Given the description of an element on the screen output the (x, y) to click on. 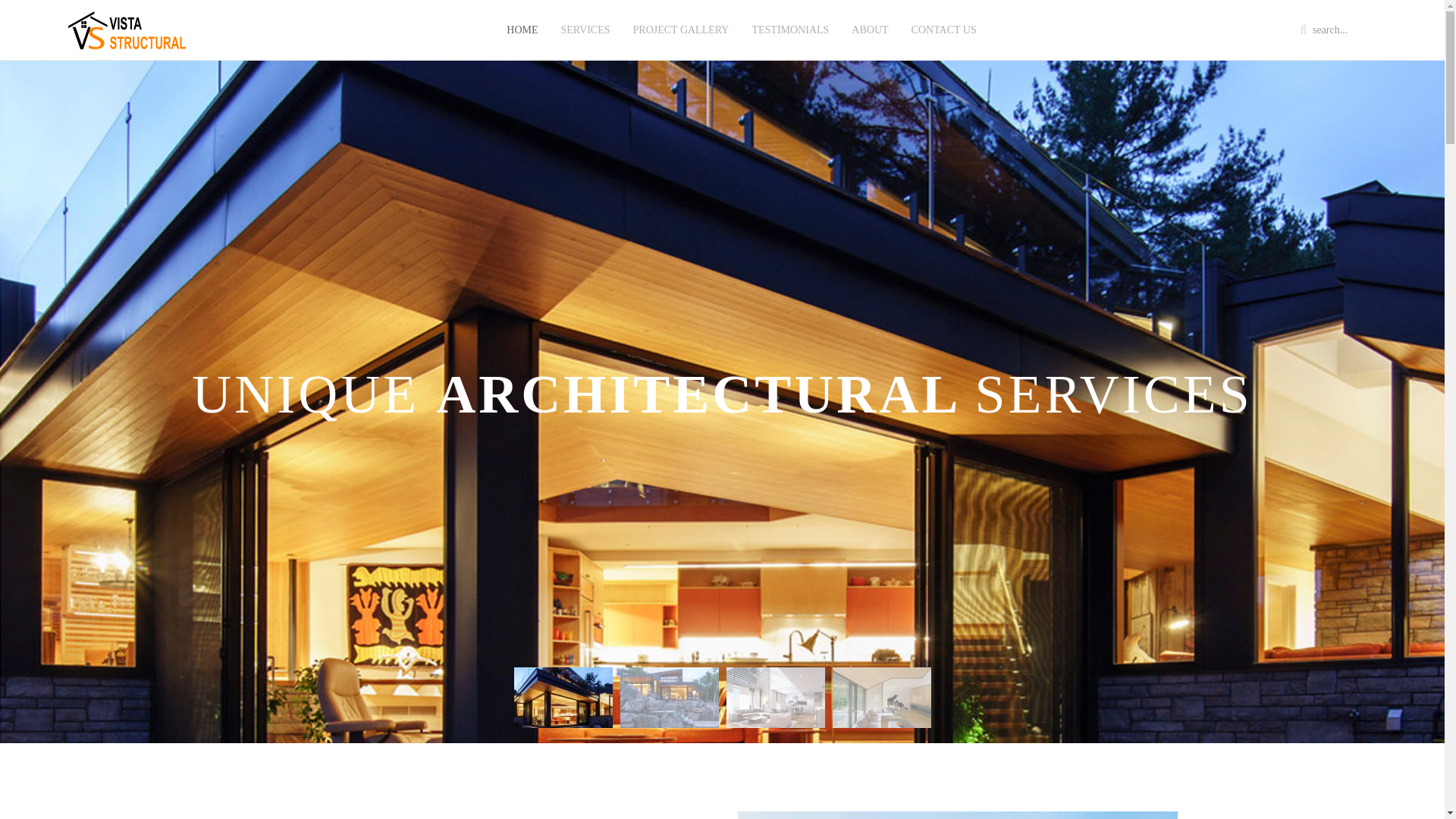
PROJECT GALLERY (681, 49)
TESTIMONIALS (789, 49)
CONTACT US (943, 49)
